Given the description of an element on the screen output the (x, y) to click on. 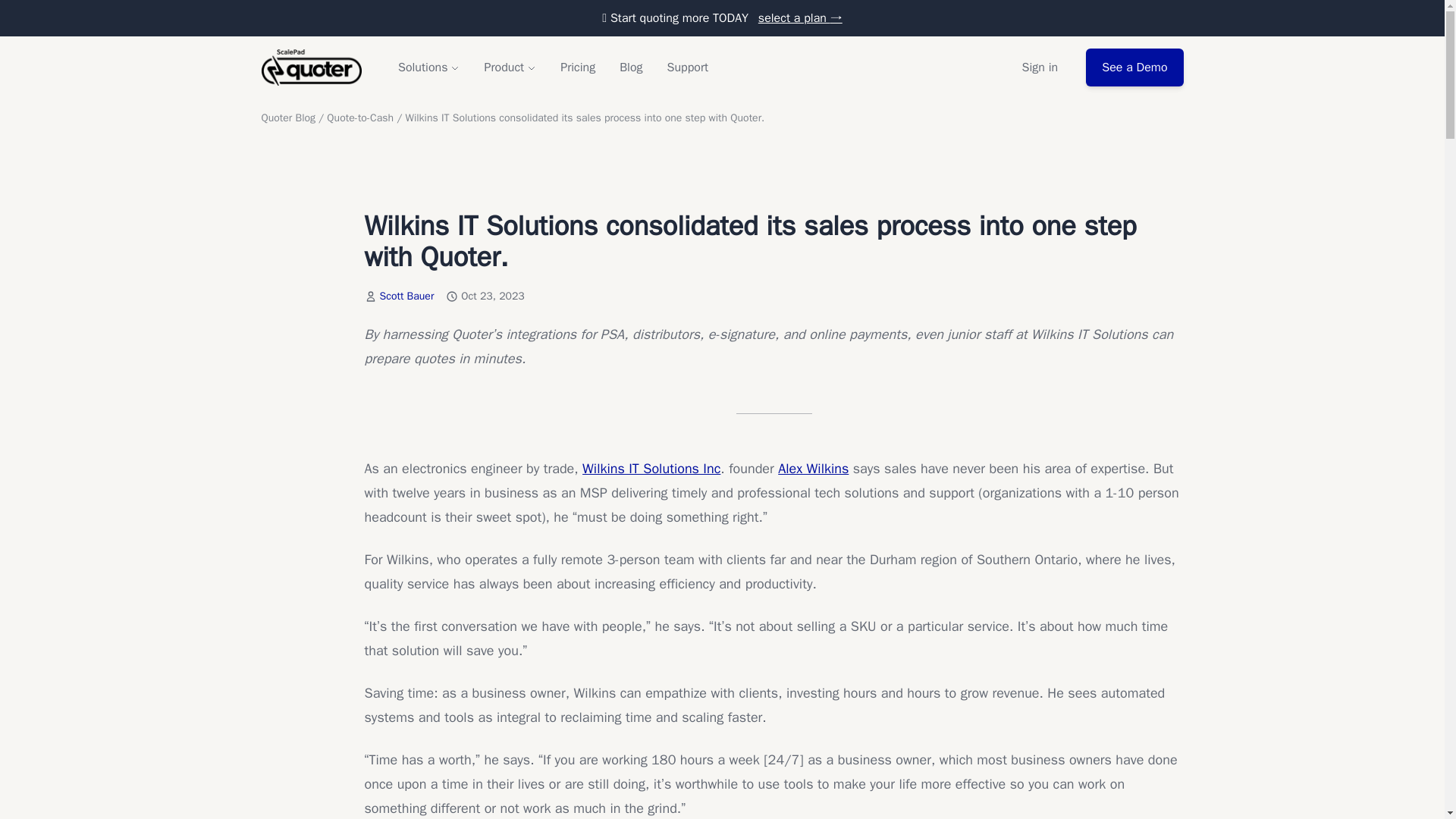
Solutions (428, 67)
Product (509, 67)
Quoter Software Inc (310, 67)
